Given the description of an element on the screen output the (x, y) to click on. 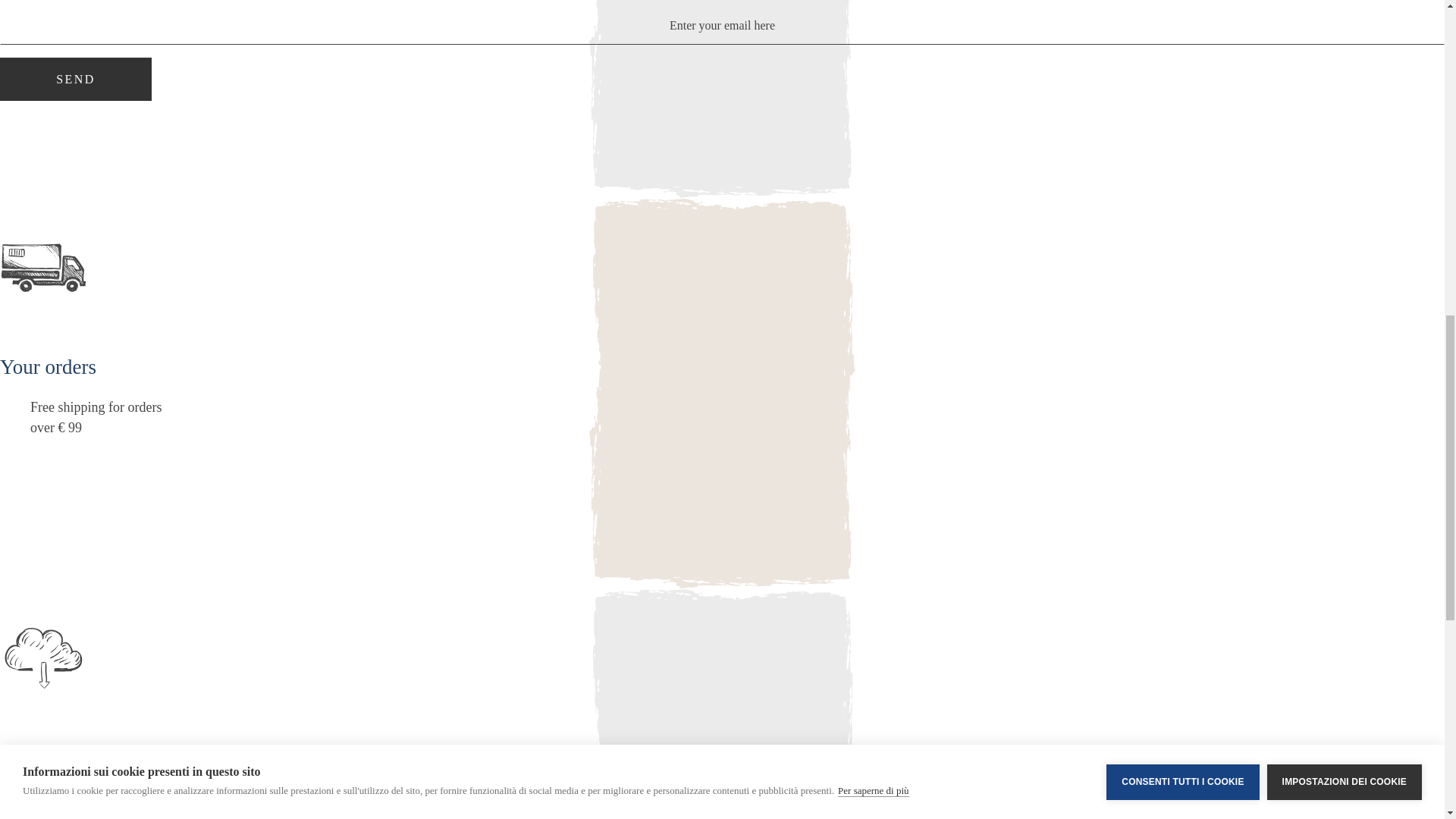
Send (75, 78)
